Given the description of an element on the screen output the (x, y) to click on. 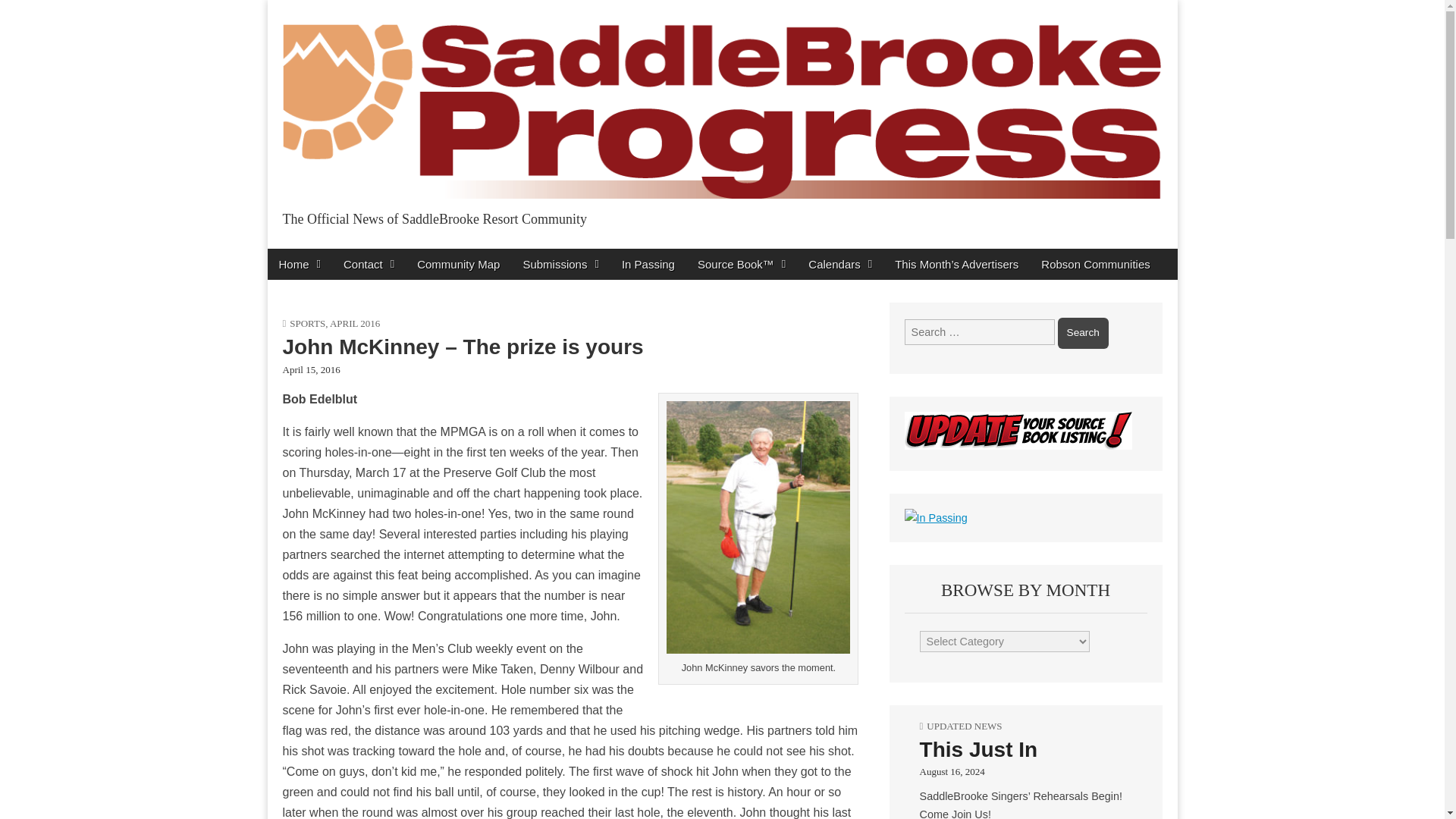
Contact (368, 264)
APRIL 2016 (355, 323)
SaddleBrooke Progress (452, 252)
In Passing (647, 264)
Home (298, 264)
Search (1083, 332)
Calendars (839, 264)
SaddleBrooke Progress (452, 252)
Submissions (560, 264)
